Given the description of an element on the screen output the (x, y) to click on. 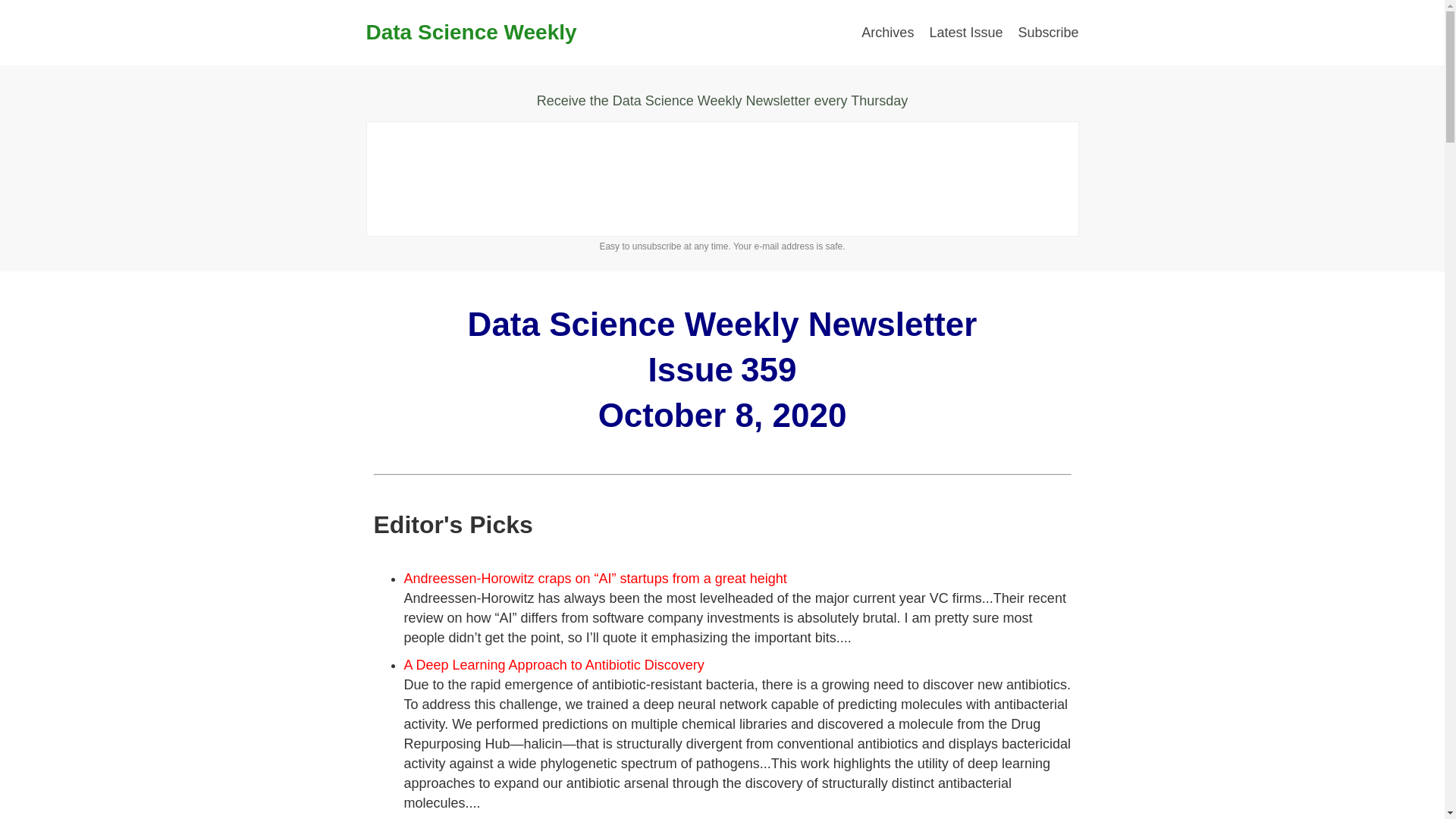
Data Science Weekly (470, 32)
A Deep Learning Approach to Antibiotic Discovery (553, 664)
Archives (887, 32)
Latest Issue (965, 32)
Subscribe (1047, 32)
